Given the description of an element on the screen output the (x, y) to click on. 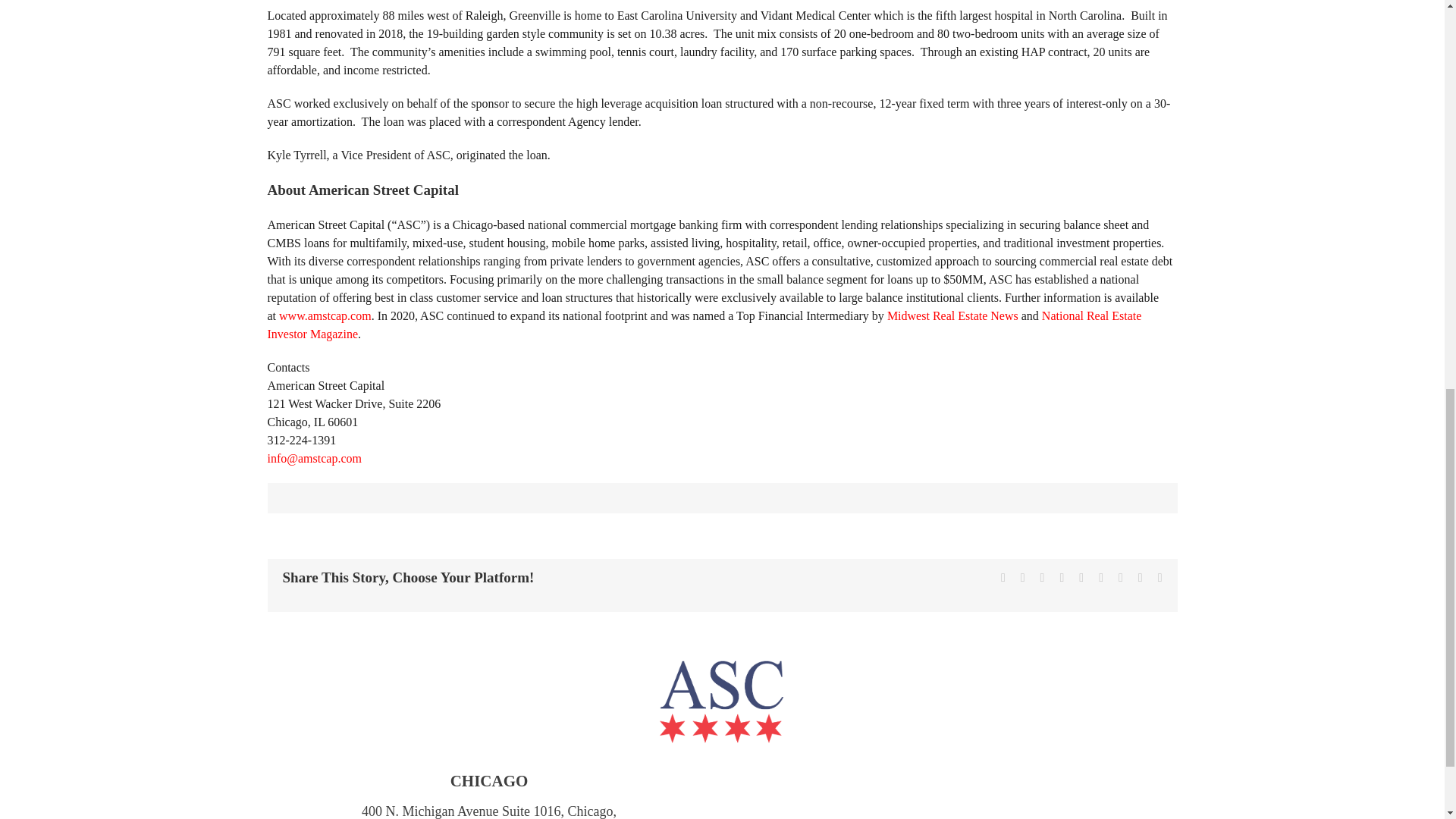
Tumblr (1101, 577)
WhatsApp (1080, 577)
Twitter (1022, 577)
LinkedIn (1061, 577)
Facebook (1003, 577)
Pinterest (1120, 577)
Midwest Real Estate News (951, 315)
Reddit (1043, 577)
WhatsApp (1080, 577)
Tumblr (1101, 577)
Twitter (1022, 577)
National Real Estate Investor Magazine (703, 324)
www.amstcap.com (325, 315)
LinkedIn (1061, 577)
Reddit (1043, 577)
